Given the description of an element on the screen output the (x, y) to click on. 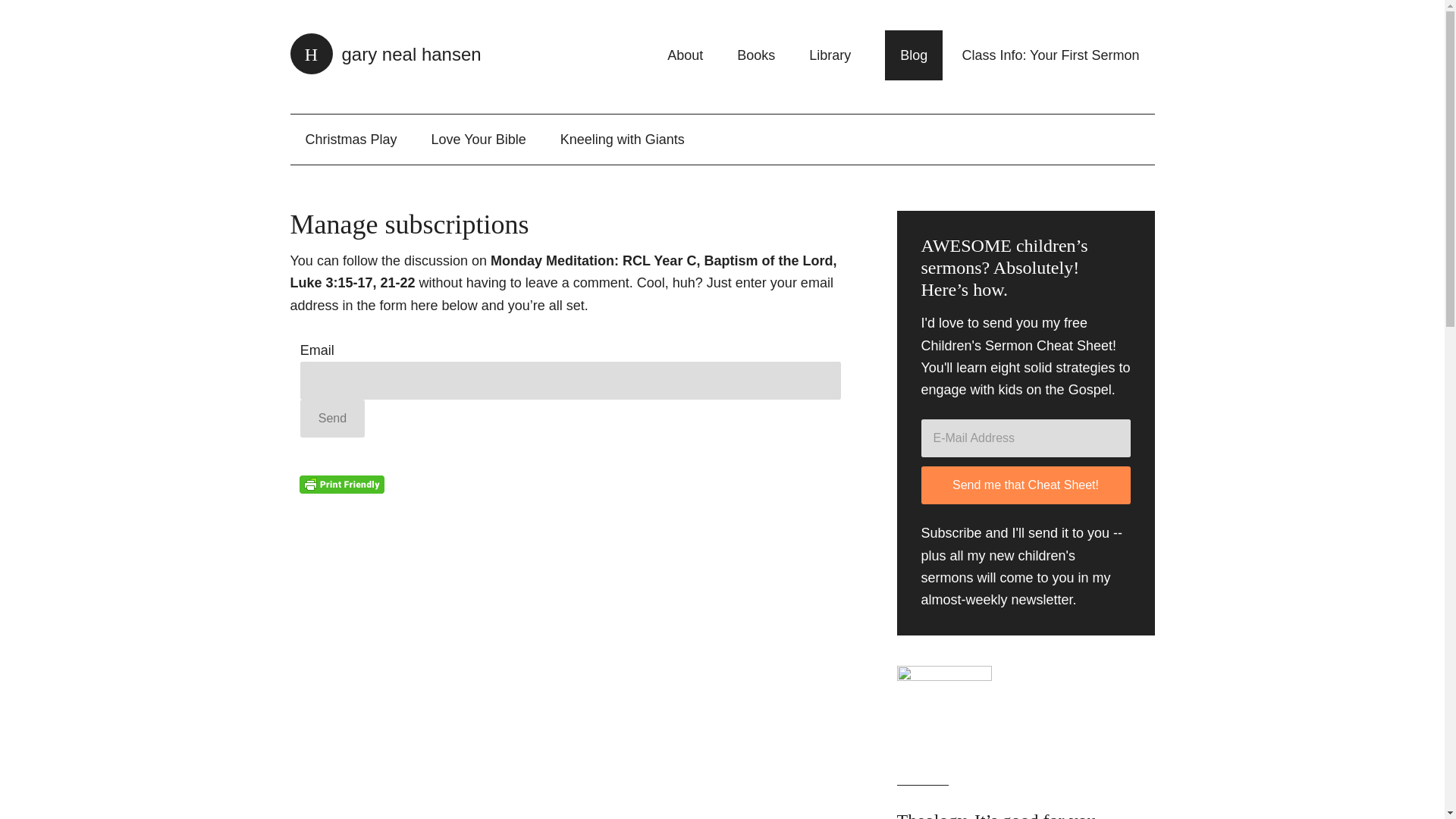
Send (332, 418)
Library (829, 55)
Kneeling with Giants (622, 139)
Send (332, 418)
Books (756, 55)
Send me that Cheat Sheet! (1024, 485)
Send me that Cheat Sheet! (1024, 485)
Class Info: Your First Sermon (1050, 55)
Blog (913, 55)
About (684, 55)
Love Your Bible (478, 139)
Christmas Play (350, 139)
gary neal hansen (384, 54)
